Given the description of an element on the screen output the (x, y) to click on. 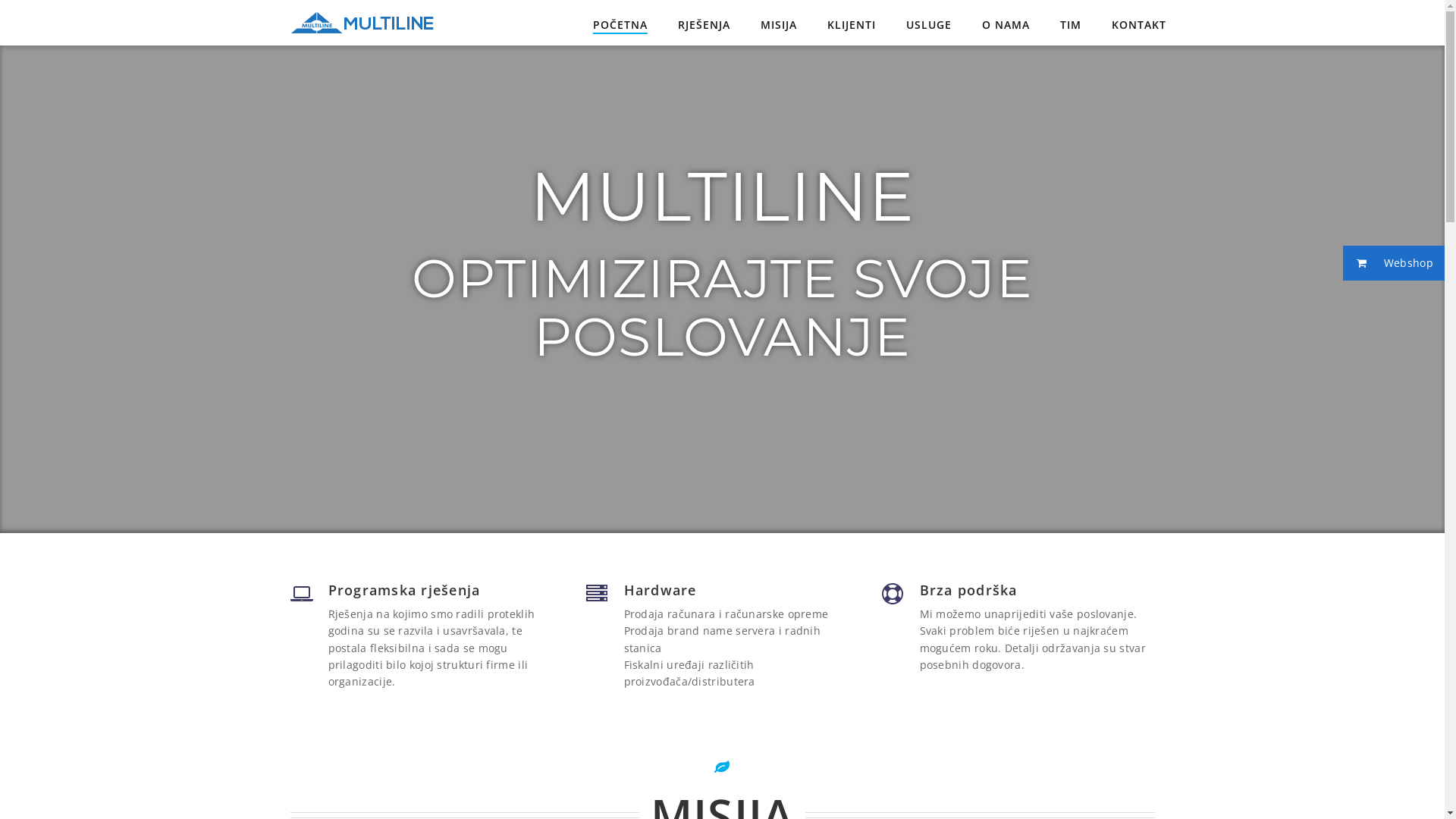
MISIJA Element type: text (777, 25)
USLUGE Element type: text (927, 25)
TIM Element type: text (1070, 25)
KONTAKT Element type: text (1138, 25)
KLIJENTI Element type: text (850, 25)
Webshop Element type: text (1393, 262)
O NAMA Element type: text (1005, 25)
